Given the description of an element on the screen output the (x, y) to click on. 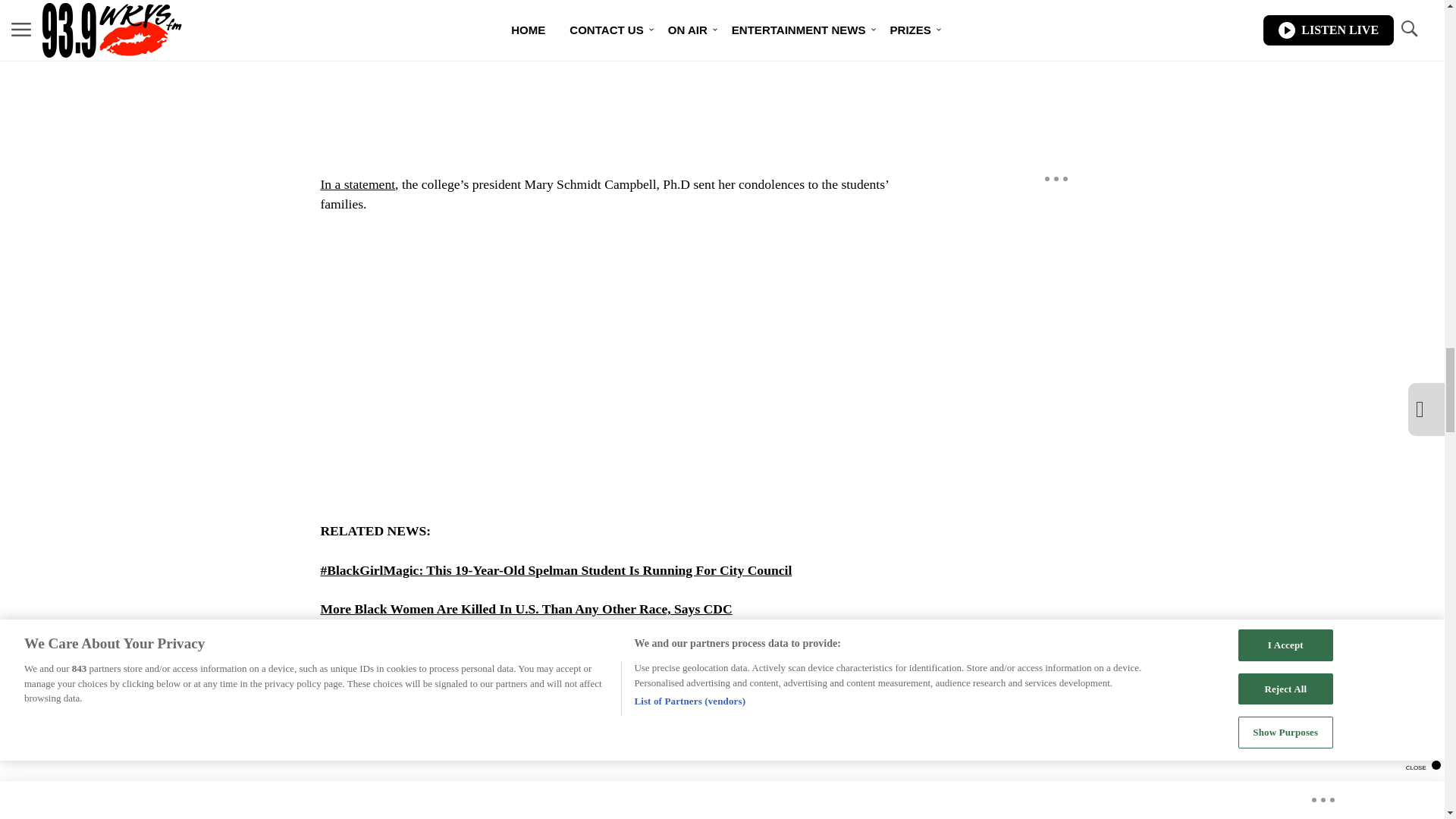
Vuukle Sharebar Widget (585, 772)
Embedded content (607, 369)
In a statement (357, 183)
